Given the description of an element on the screen output the (x, y) to click on. 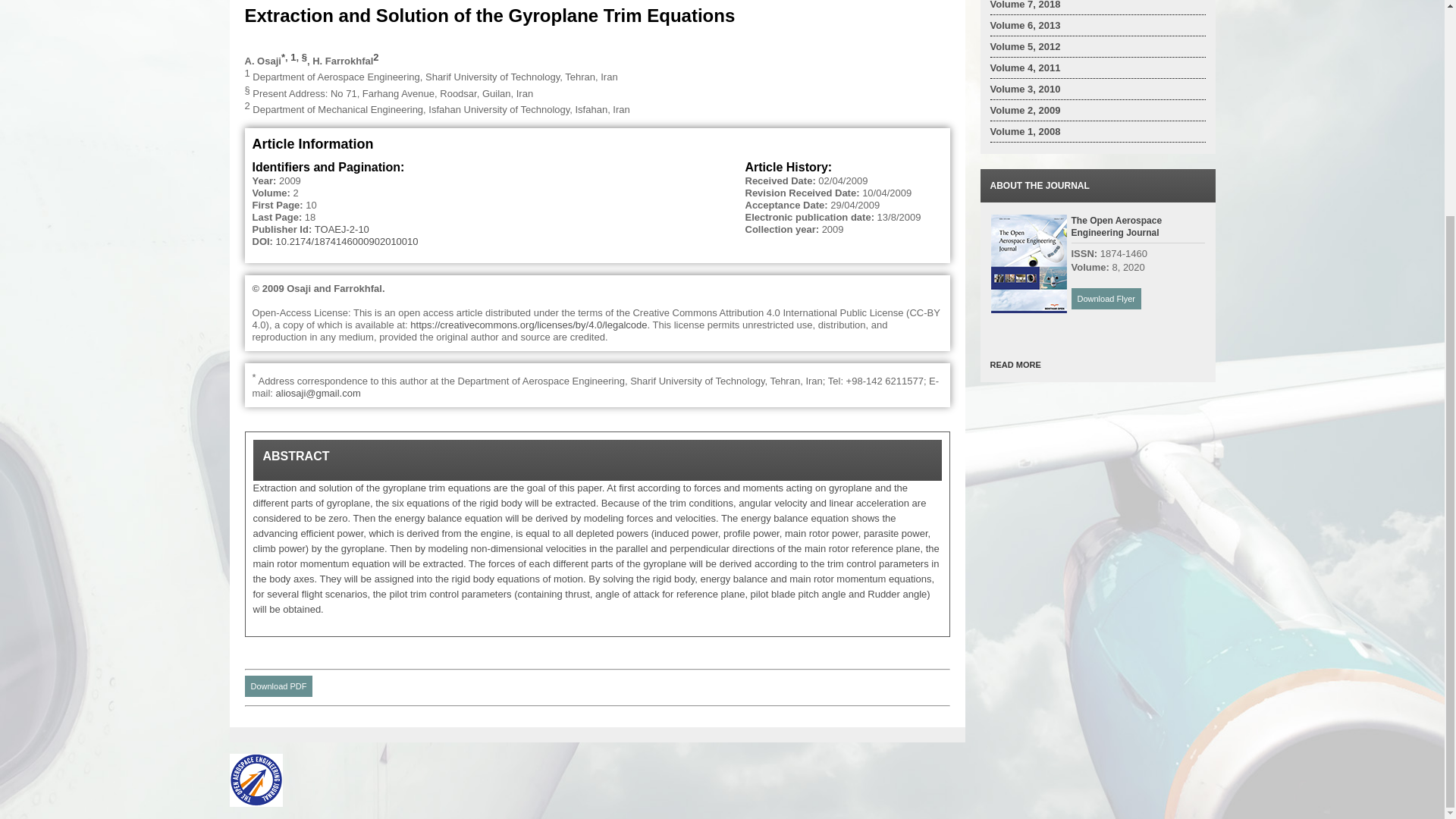
Download Flyer (1105, 298)
Volume 6, 2013 (1025, 25)
TOAEJ-2-10 (341, 229)
Volume 3, 2010 (1025, 89)
Volume 2, 2009 (1025, 110)
Volume 5, 2012 (1025, 46)
Volume 7, 2018 (1025, 4)
READ MORE (1015, 364)
Volume 1, 2008 (1025, 131)
Download PDF (278, 685)
Volume 4, 2011 (1025, 67)
